Given the description of an element on the screen output the (x, y) to click on. 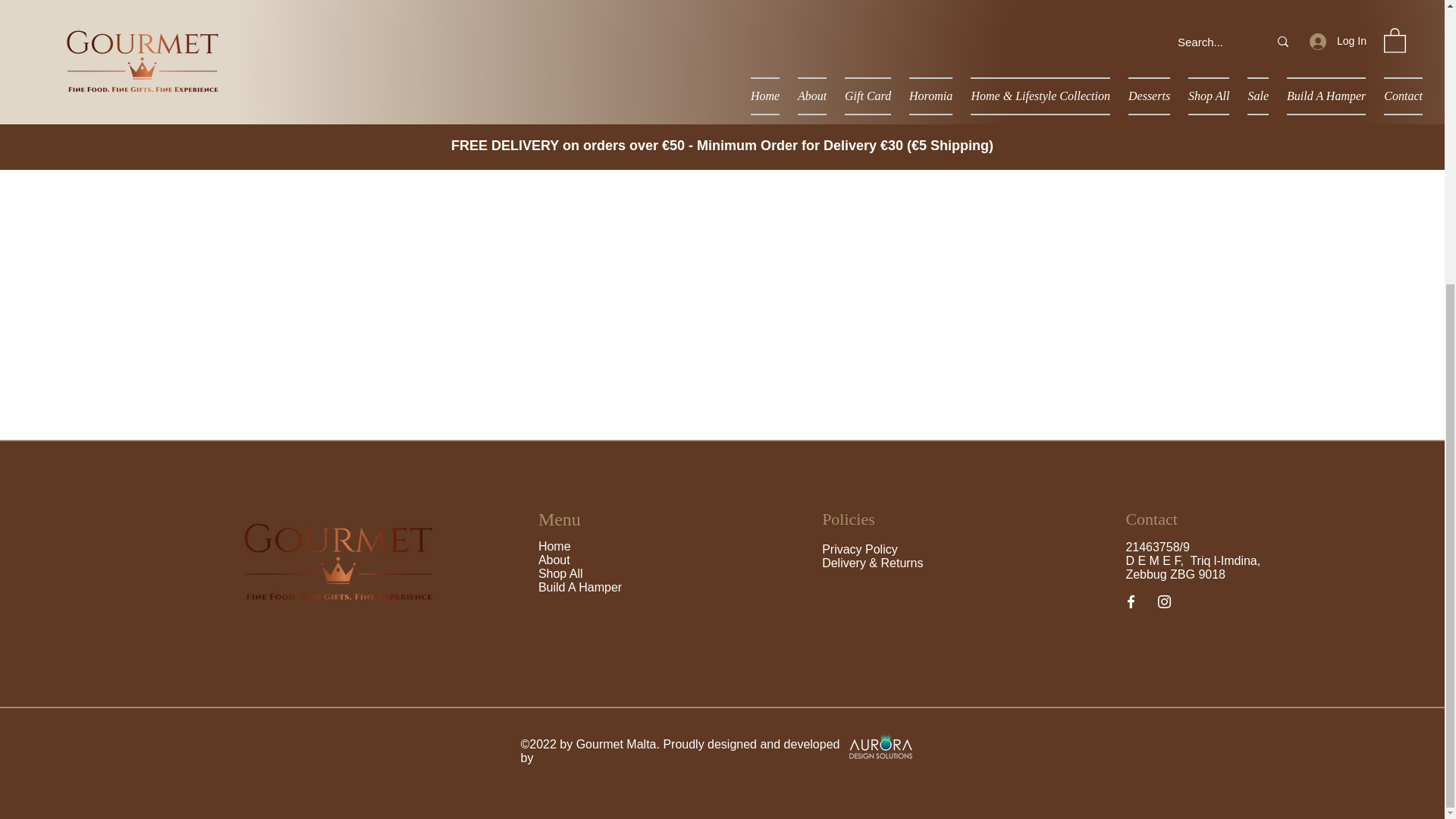
Home (554, 545)
Aurora Design Solutions (880, 745)
Build A Hamper (579, 586)
Add to Cart (956, 130)
Shop All (560, 573)
Privacy Policy (860, 549)
About  (555, 559)
1 (887, 75)
